Given the description of an element on the screen output the (x, y) to click on. 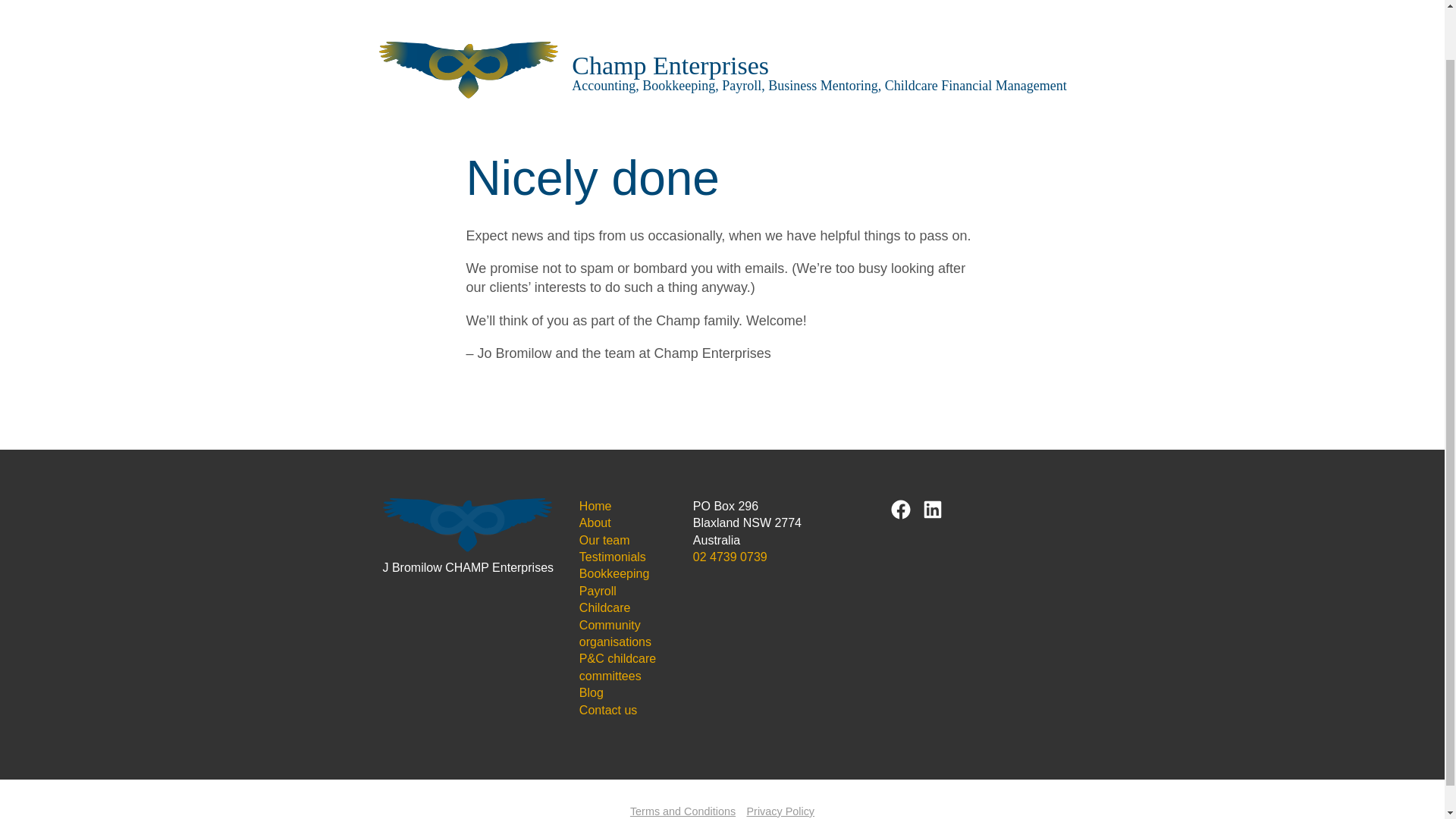
About (595, 522)
Community organisations (614, 633)
Champ Enterprises (670, 65)
Blog (591, 692)
Terms and Conditions (682, 811)
Contact us (608, 709)
Bookkeeping (614, 573)
Champ Enterprises (670, 65)
Keep up with Champ Enterprises on Facebook (900, 508)
02 4739 0739 (730, 556)
